Given the description of an element on the screen output the (x, y) to click on. 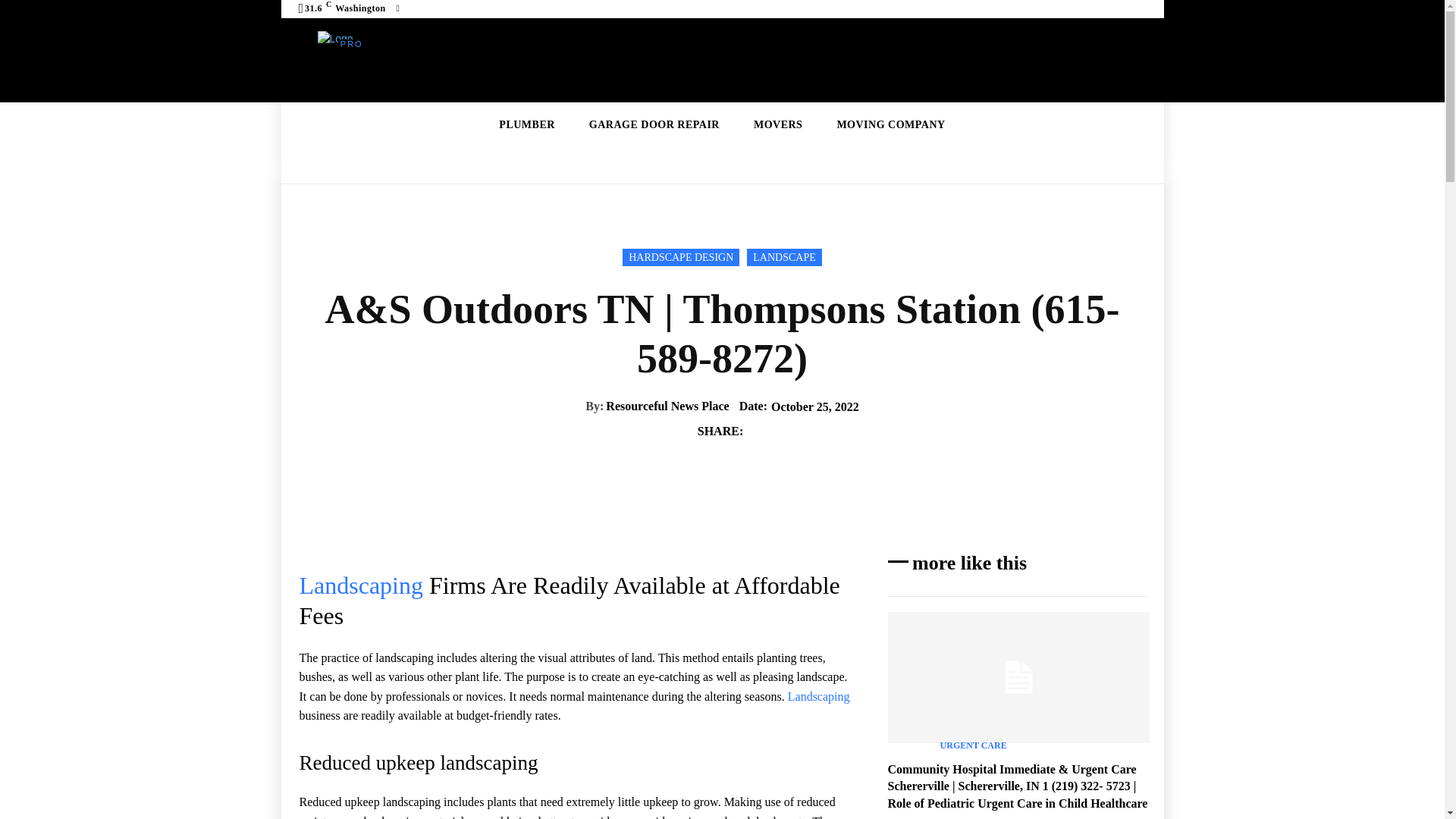
URGENT CARE (973, 745)
GARAGE DOOR REPAIR (654, 125)
Resourceful News Place (667, 405)
LANDSCAPE (783, 257)
Landscaping (818, 696)
PLUMBER (526, 125)
MOVING COMPANY (890, 125)
HARDSCAPE DESIGN (681, 257)
Landscaping (360, 584)
MOVERS (777, 125)
